Given the description of an element on the screen output the (x, y) to click on. 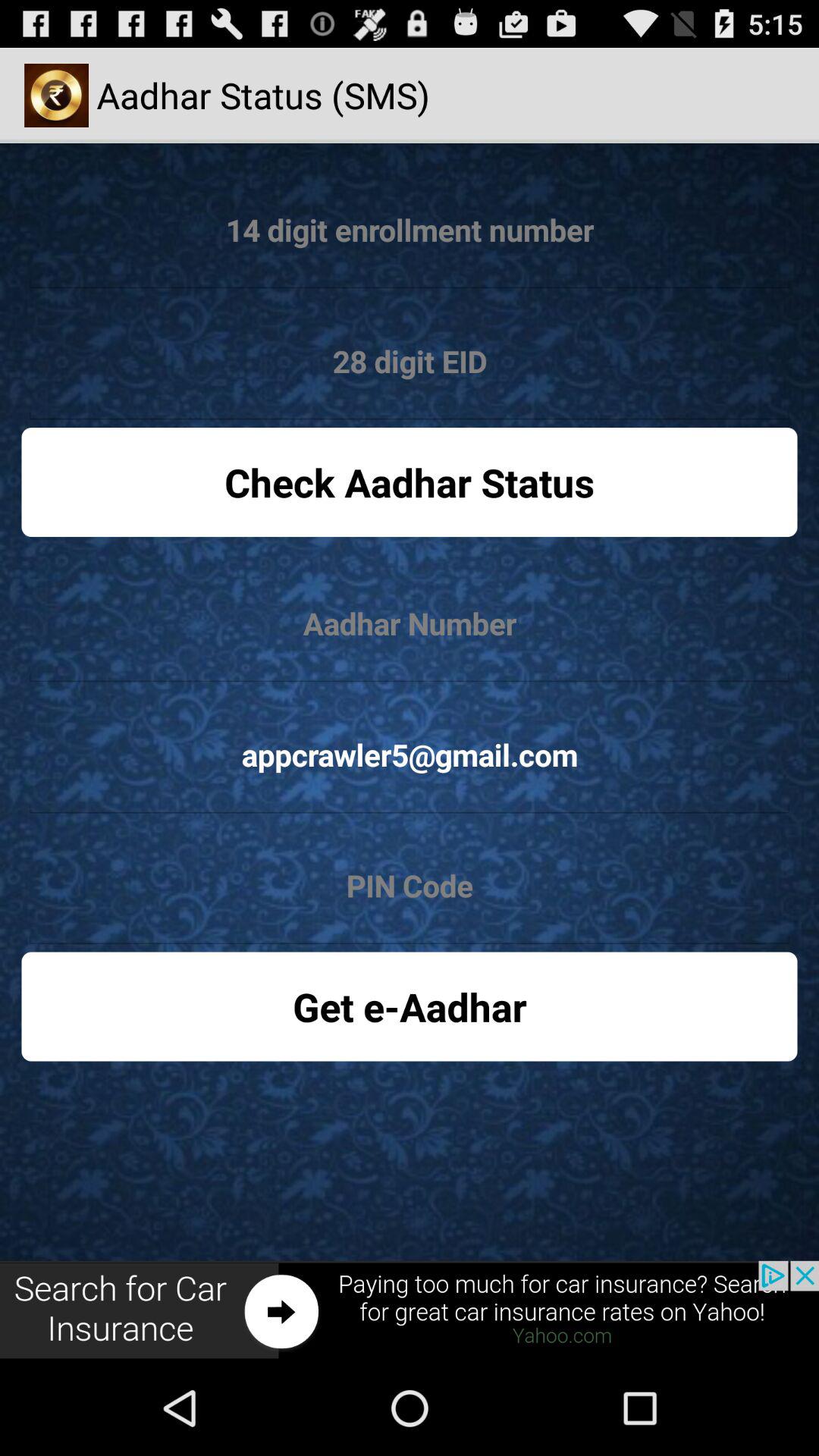
select the pin (409, 886)
